Given the description of an element on the screen output the (x, y) to click on. 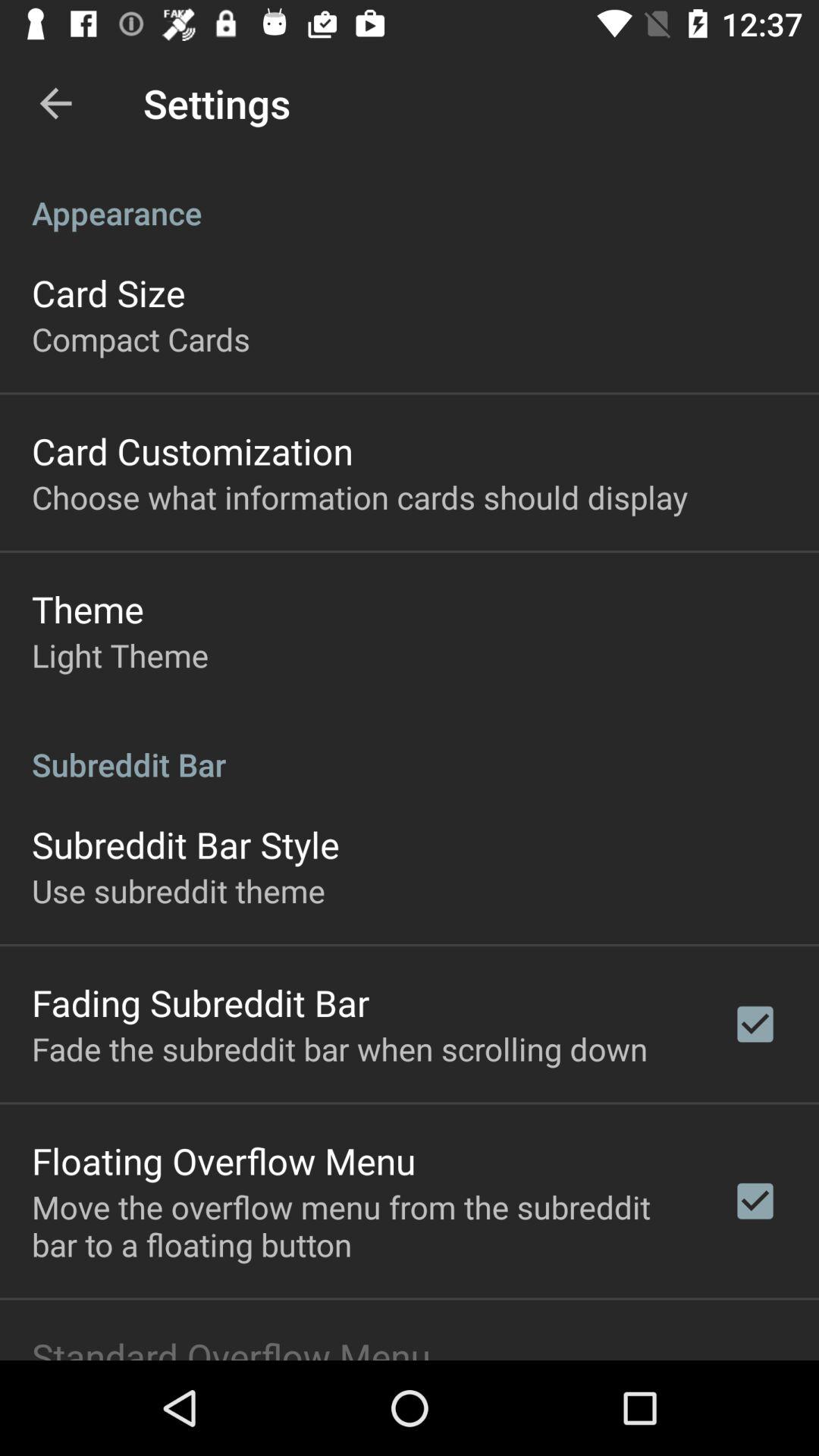
turn on the appearance (409, 196)
